Given the description of an element on the screen output the (x, y) to click on. 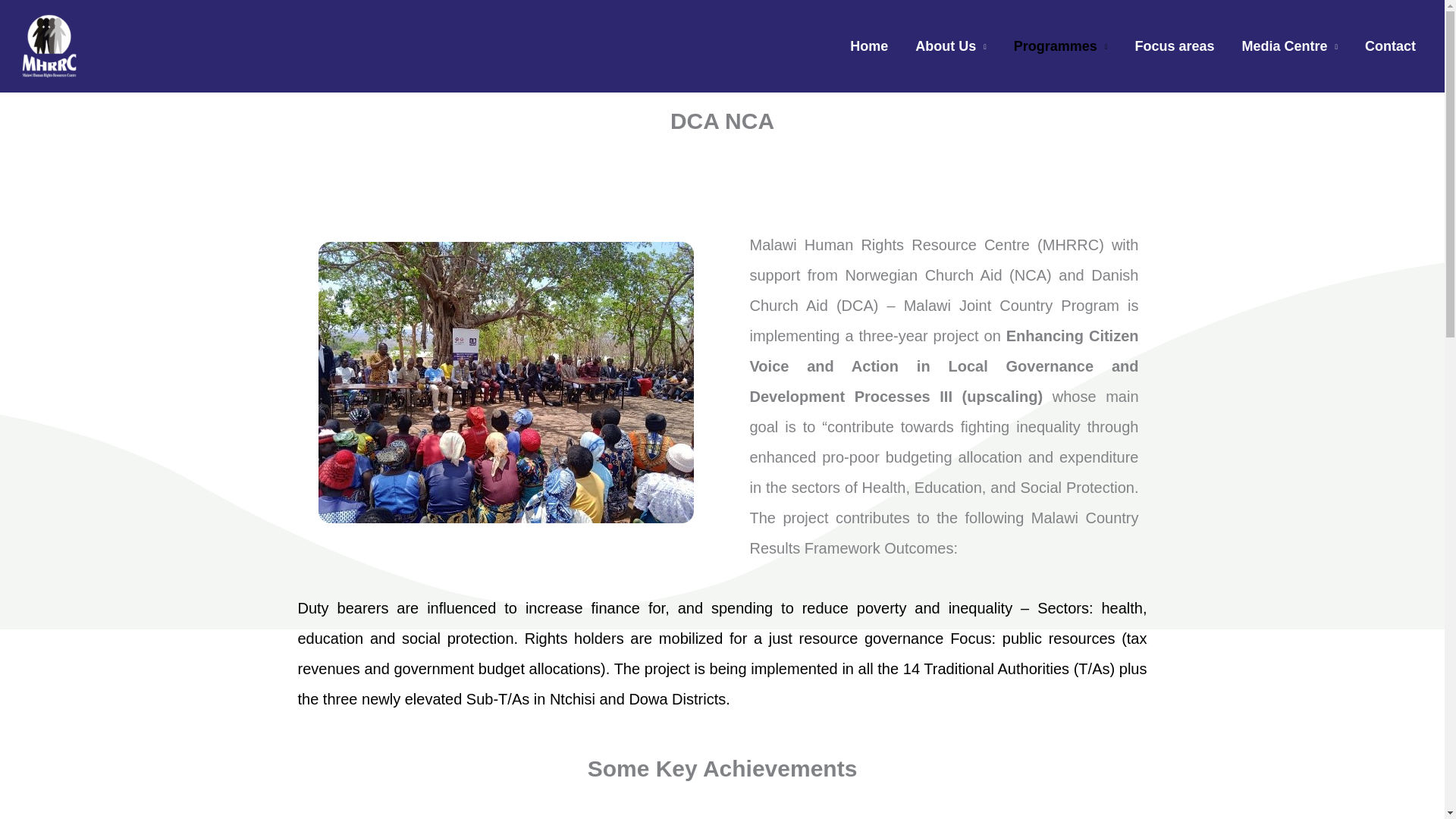
Focus areas (1174, 45)
Home (868, 45)
About Us (950, 45)
Programmes (1060, 45)
Media Centre (1289, 45)
Contact (1390, 45)
